Given the description of an element on the screen output the (x, y) to click on. 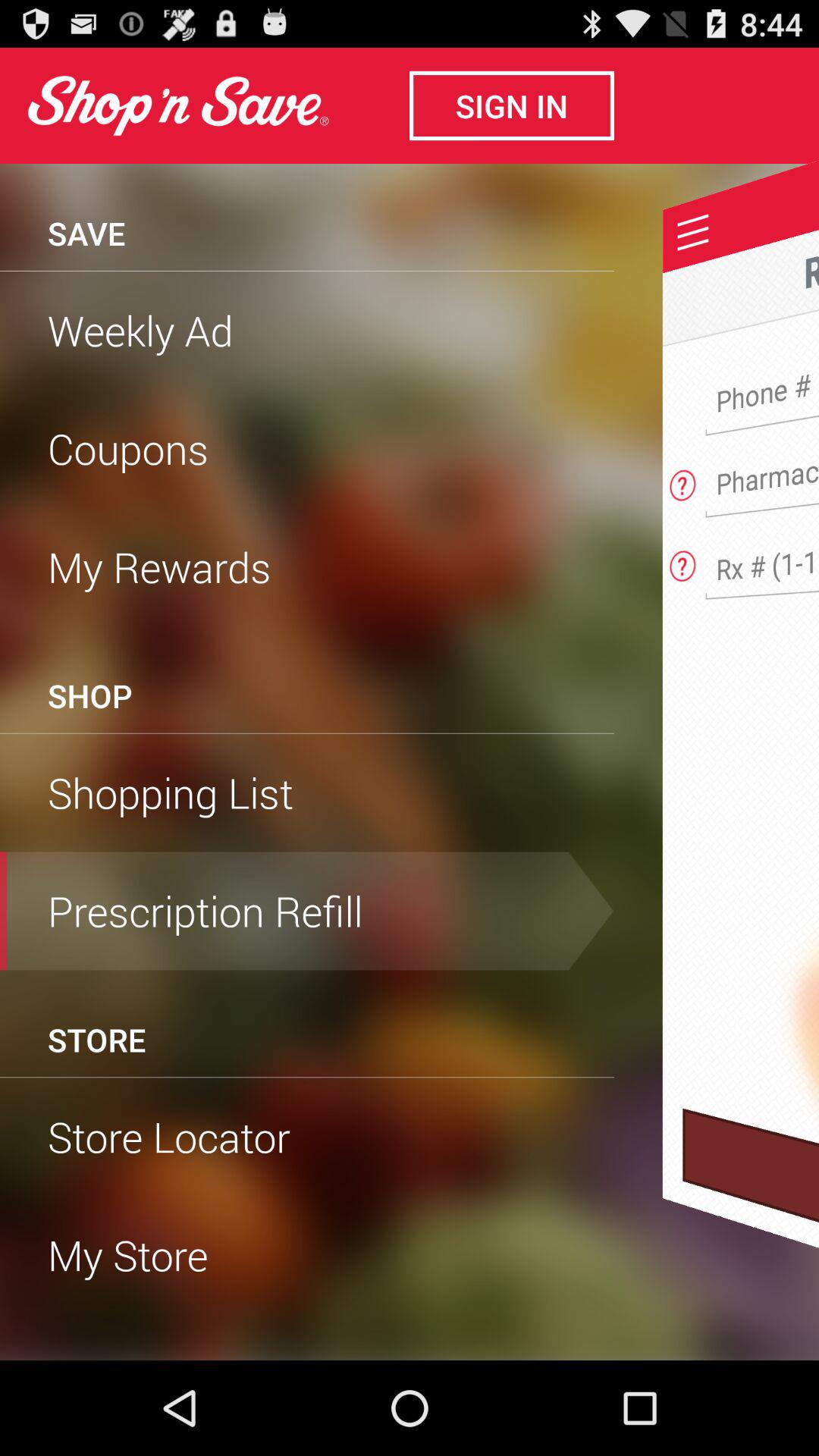
open store locator (307, 1136)
